Given the description of an element on the screen output the (x, y) to click on. 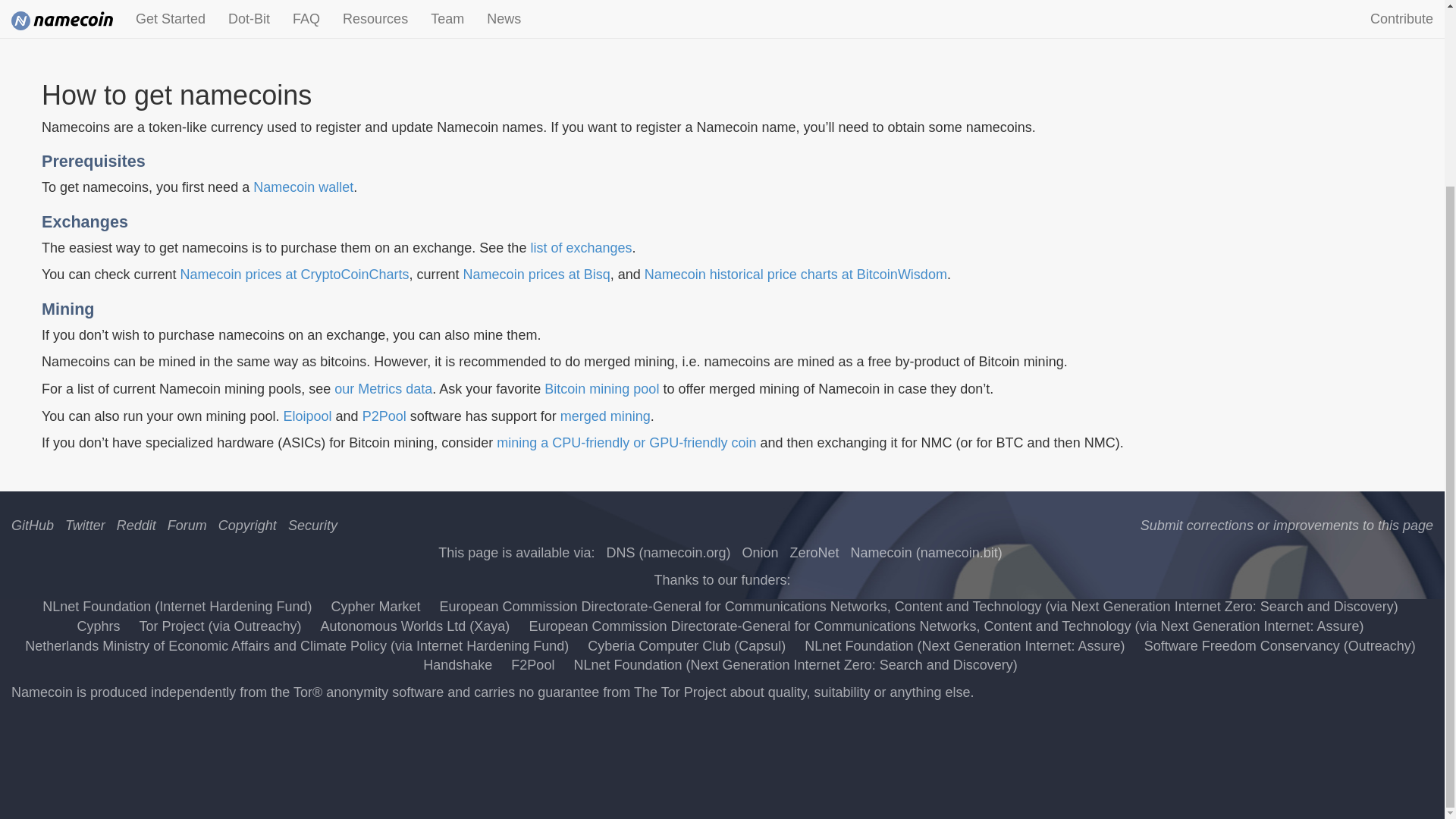
Reddit (135, 525)
P2Pool (384, 416)
mining a CPU-friendly or GPU-friendly coin (625, 442)
Bitcoin mining pool (601, 388)
Copyright (247, 525)
our Metrics data (383, 388)
Eloipool (307, 416)
GitHub (32, 525)
Namecoin prices at Bisq (536, 273)
Namecoin wallet (303, 186)
